Given the description of an element on the screen output the (x, y) to click on. 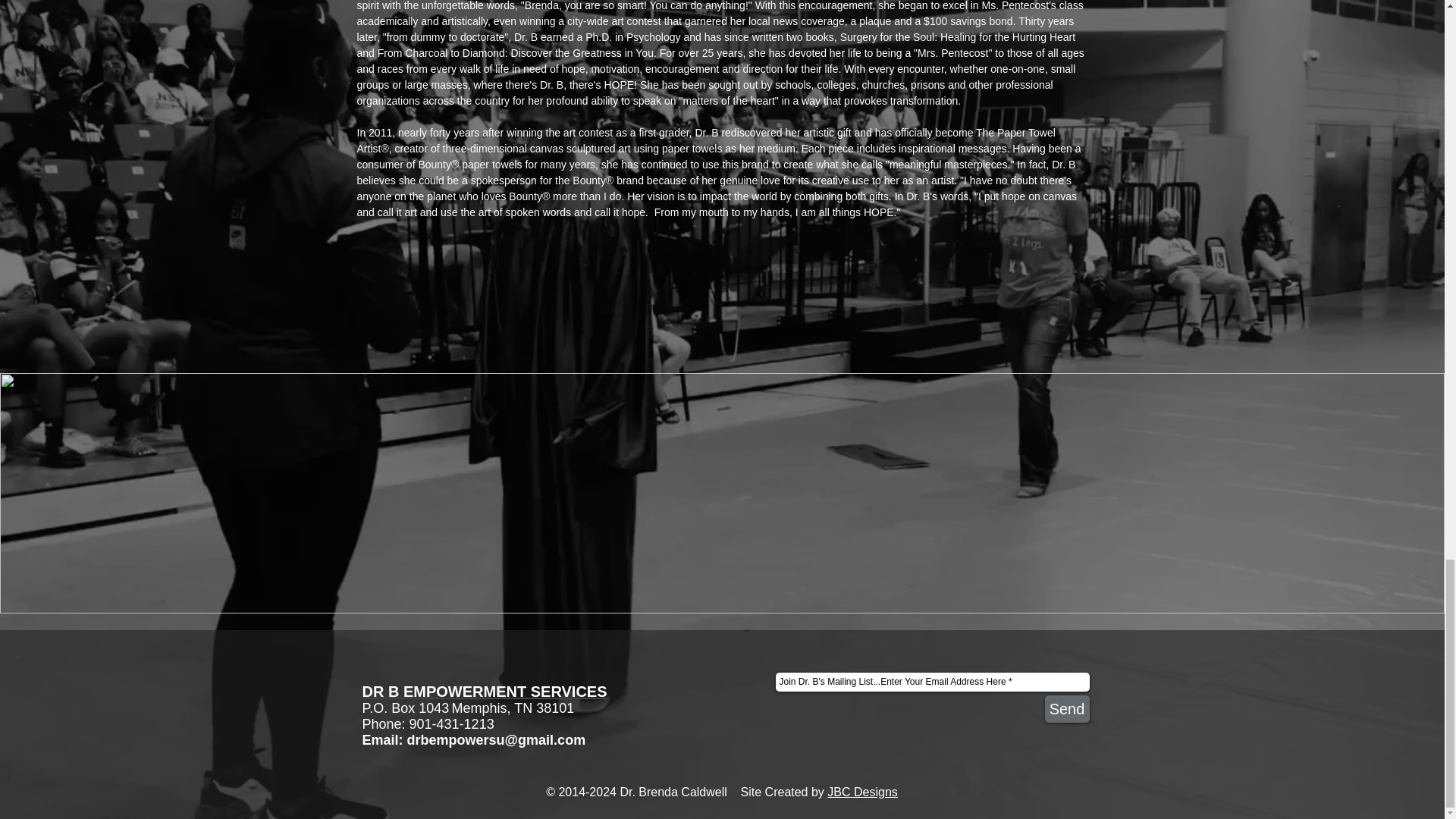
External YouTube (532, 493)
JBC Designs (861, 791)
External YouTube (911, 493)
Send (1067, 708)
